Given the description of an element on the screen output the (x, y) to click on. 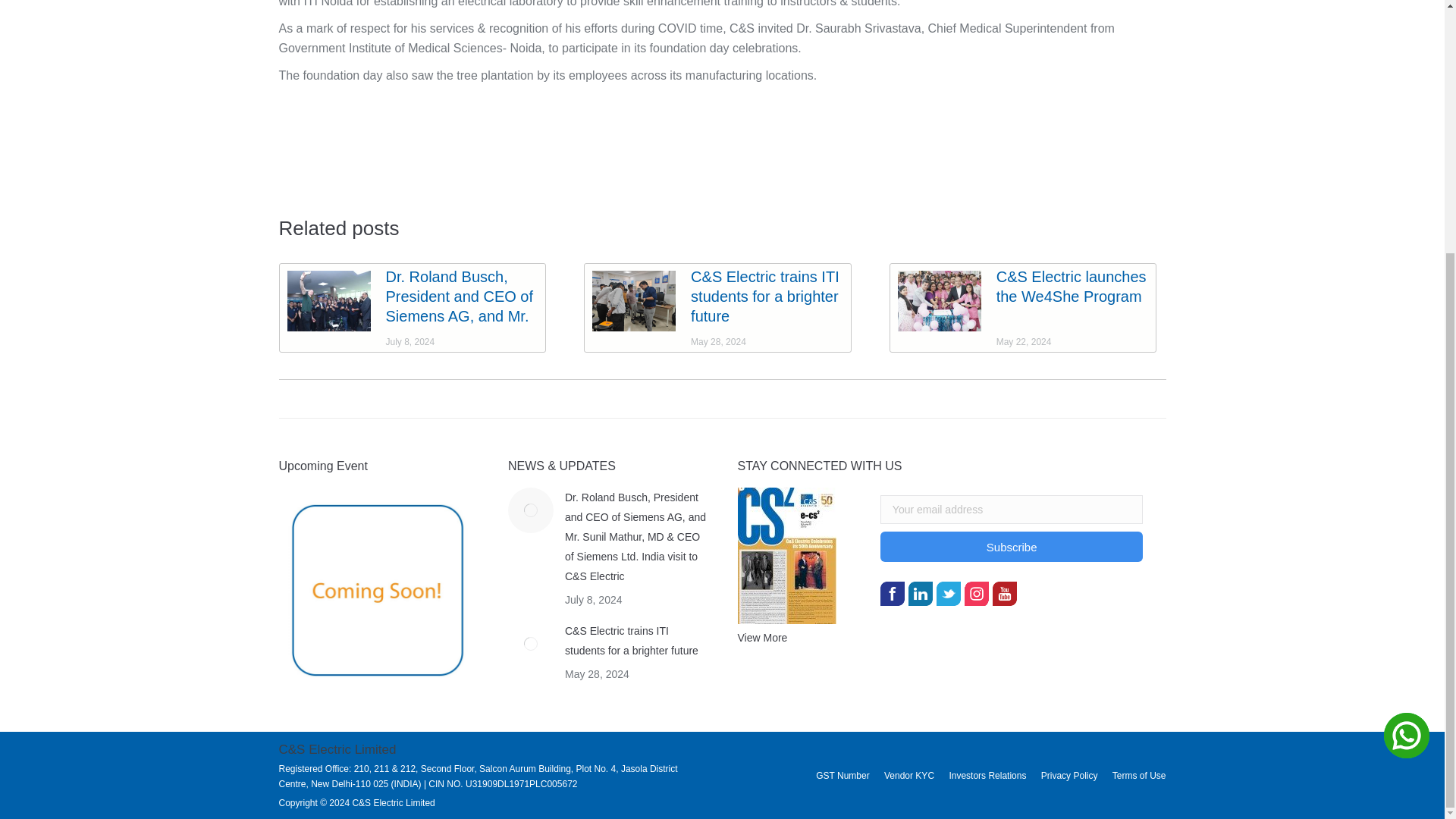
Subscribe (1011, 546)
